Given the description of an element on the screen output the (x, y) to click on. 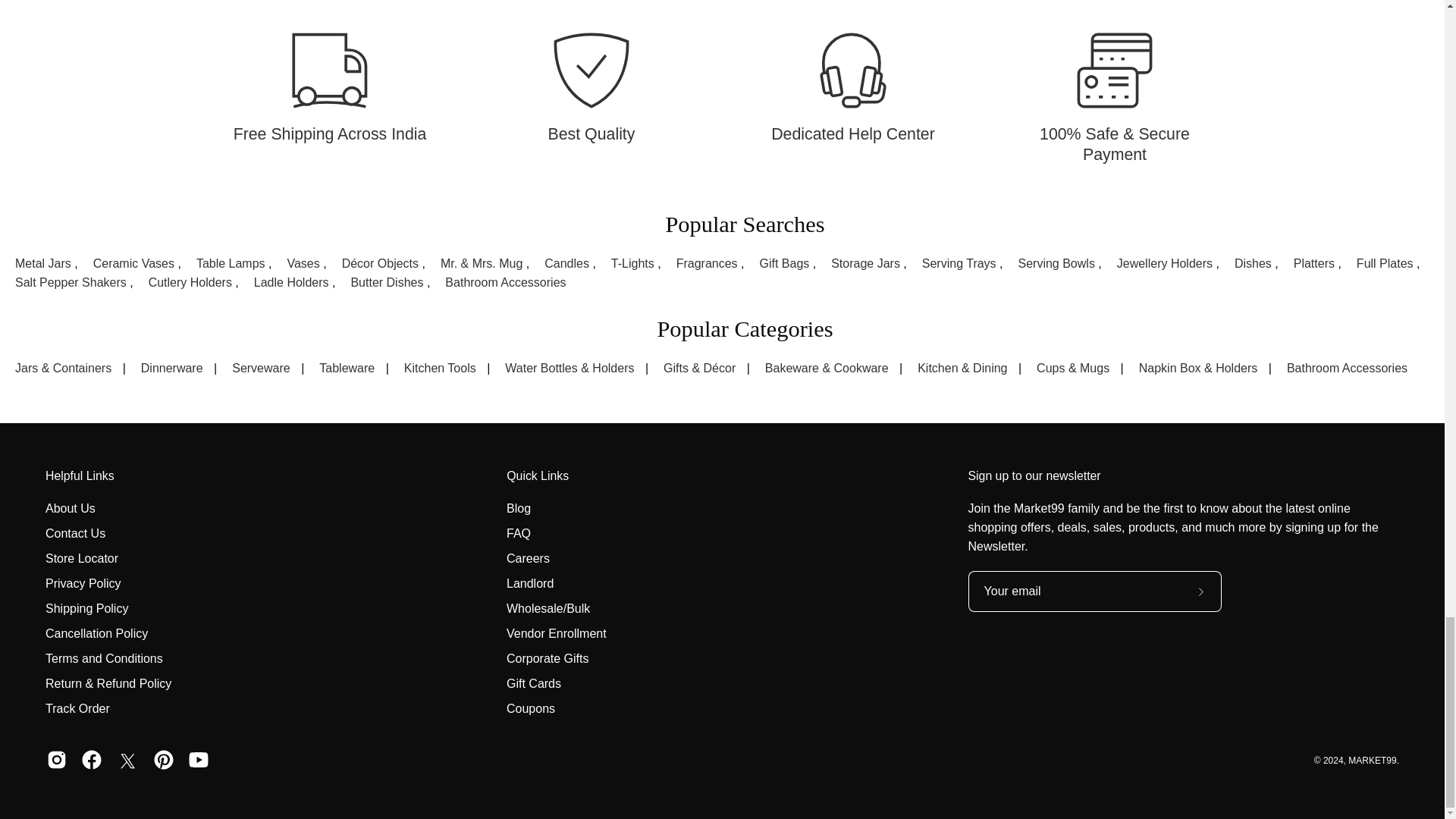
View MARKET99 on Pinterest (163, 760)
View MARKET99 on Instagram (56, 760)
View MARKET99 on Twitter (127, 760)
View MARKET99 on Facebook (91, 760)
View MARKET99 on Youtube (198, 760)
